Given the description of an element on the screen output the (x, y) to click on. 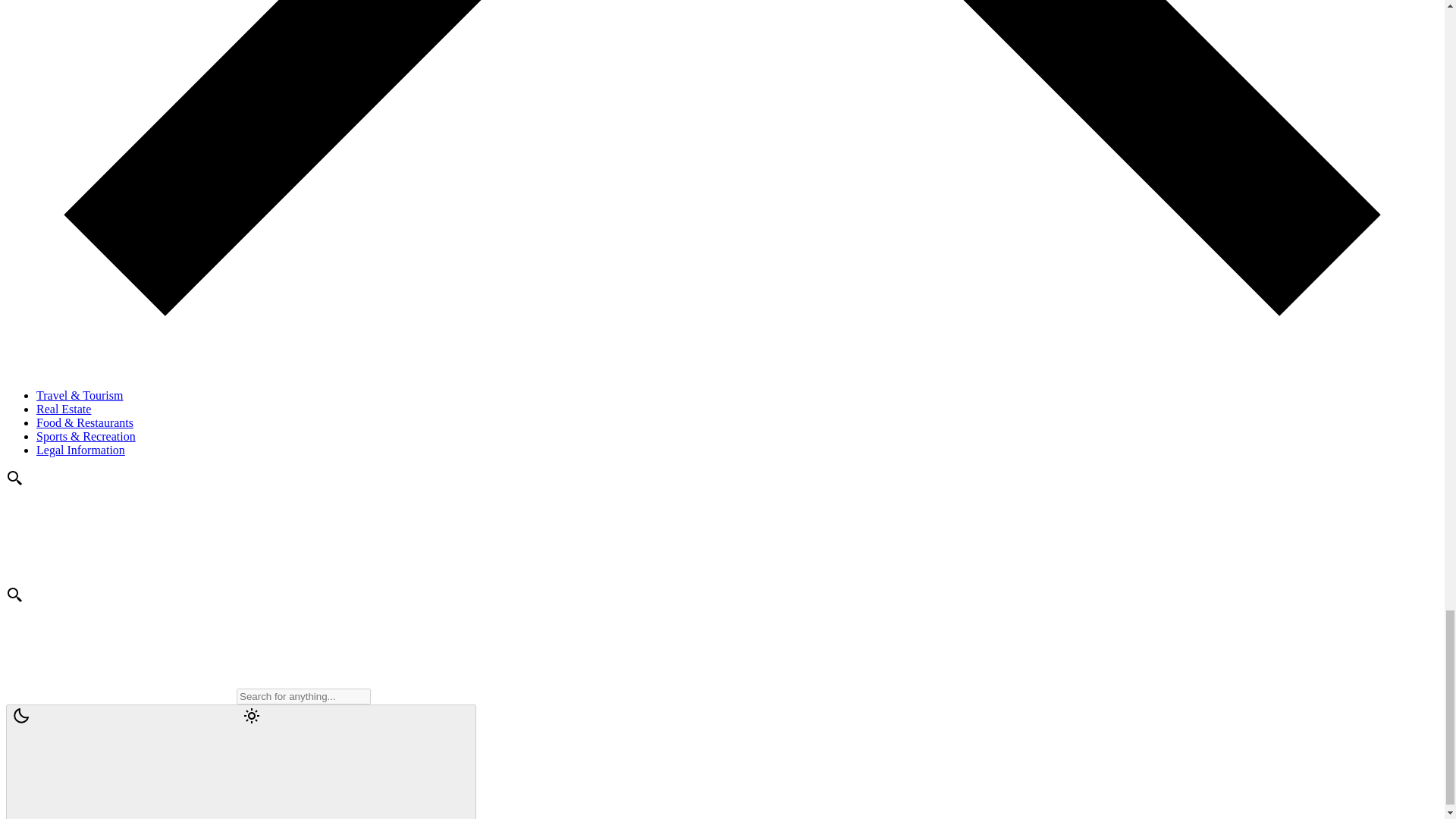
Legal Information (80, 449)
Real Estate (63, 408)
